Given the description of an element on the screen output the (x, y) to click on. 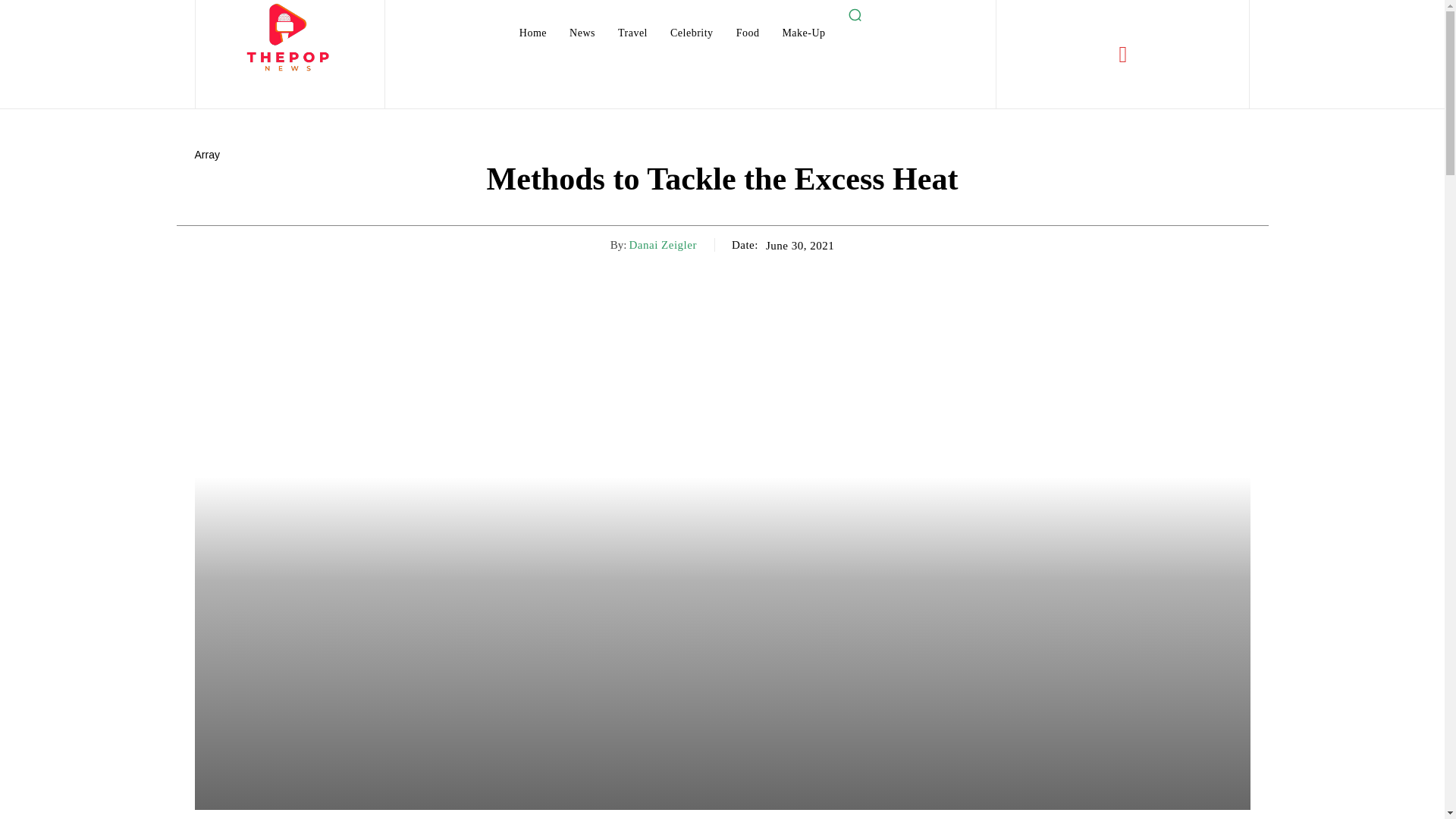
Instagram (1122, 53)
Make-Up (803, 33)
Celebrity (691, 33)
